Given the description of an element on the screen output the (x, y) to click on. 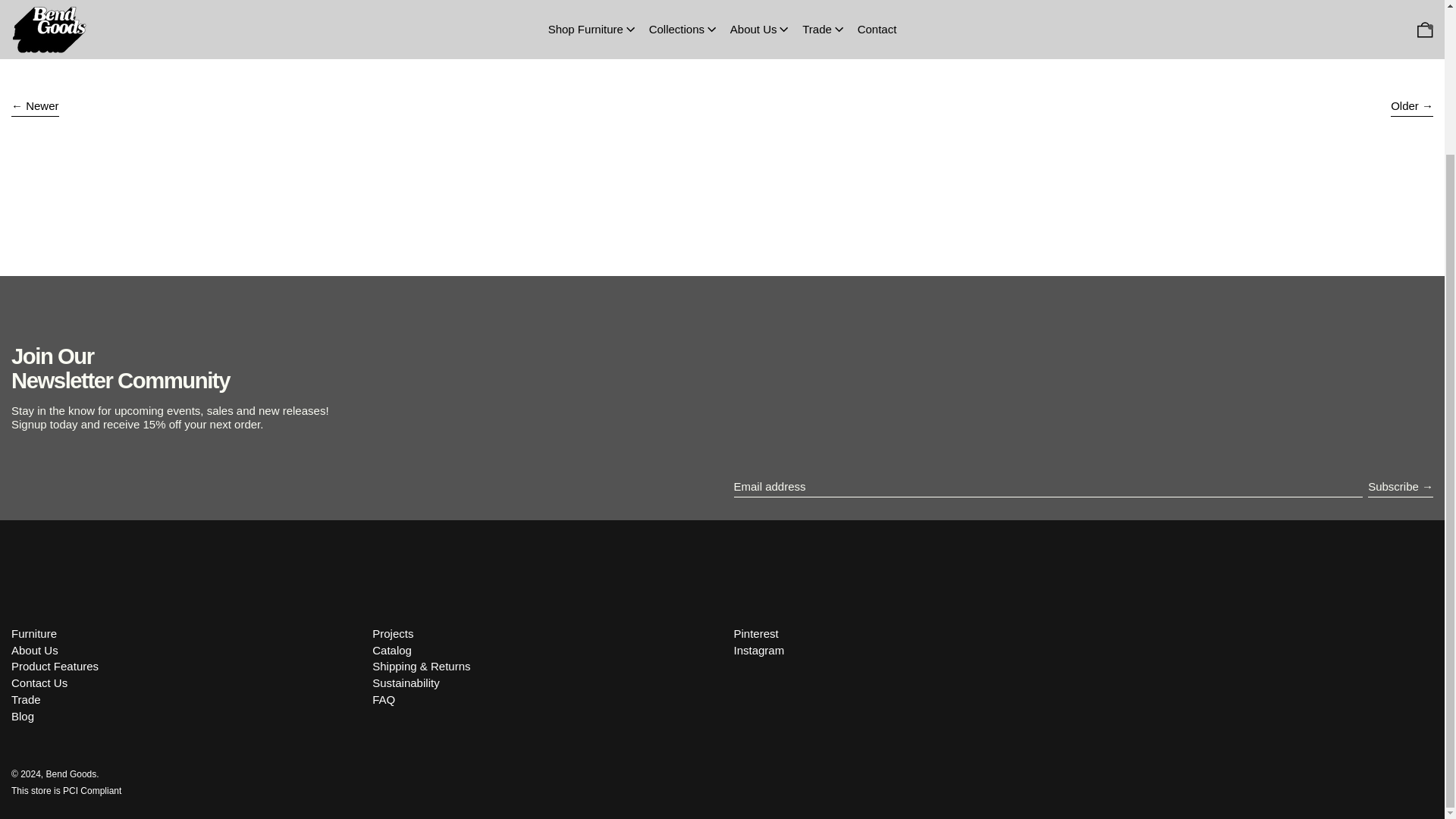
Furniture (33, 633)
Newer (35, 108)
Product Features (55, 666)
Newer (35, 108)
Contact Us (38, 682)
Trade (25, 698)
Blog (22, 716)
About Us (34, 649)
Older (1411, 108)
Older (1411, 108)
Subscribe (1400, 486)
